Given the description of an element on the screen output the (x, y) to click on. 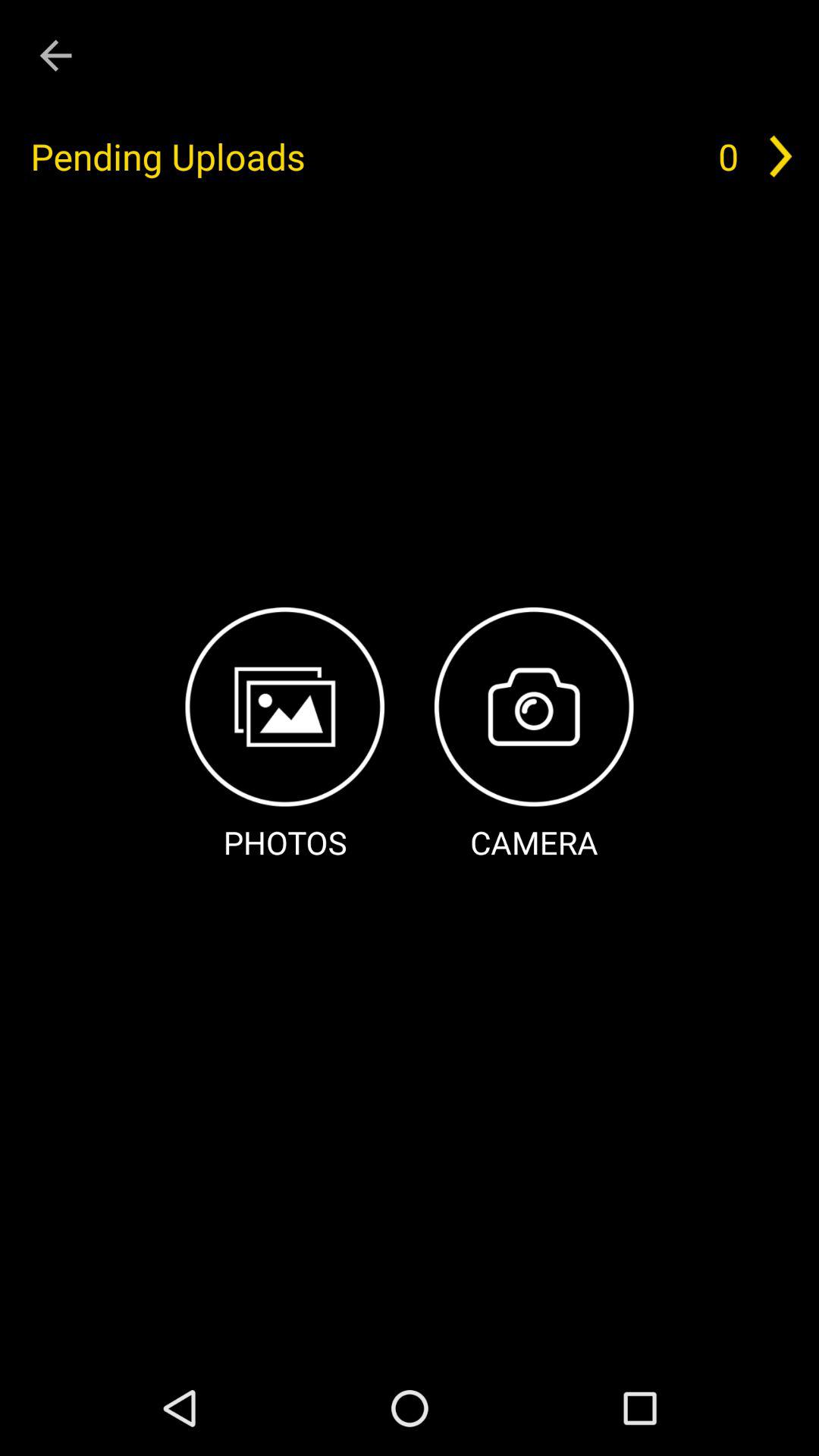
choose the 0 (728, 155)
